Given the description of an element on the screen output the (x, y) to click on. 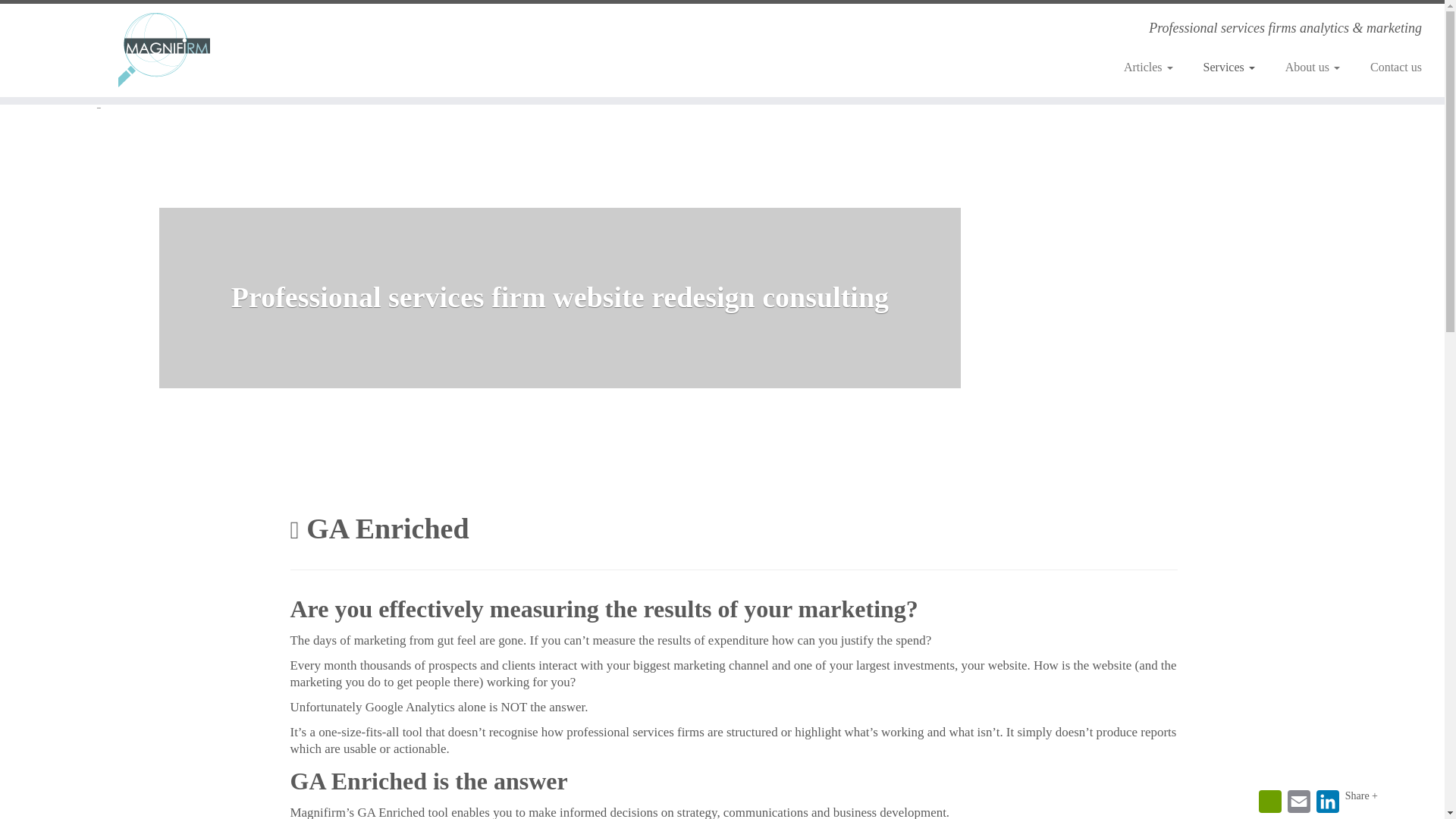
Articles (1148, 67)
PrintFriendly (1269, 801)
LinkedIn (1327, 801)
About us (1312, 67)
Email (1298, 801)
Services (1228, 67)
Contact us (1388, 67)
PrintFriendly (1269, 801)
